Given the description of an element on the screen output the (x, y) to click on. 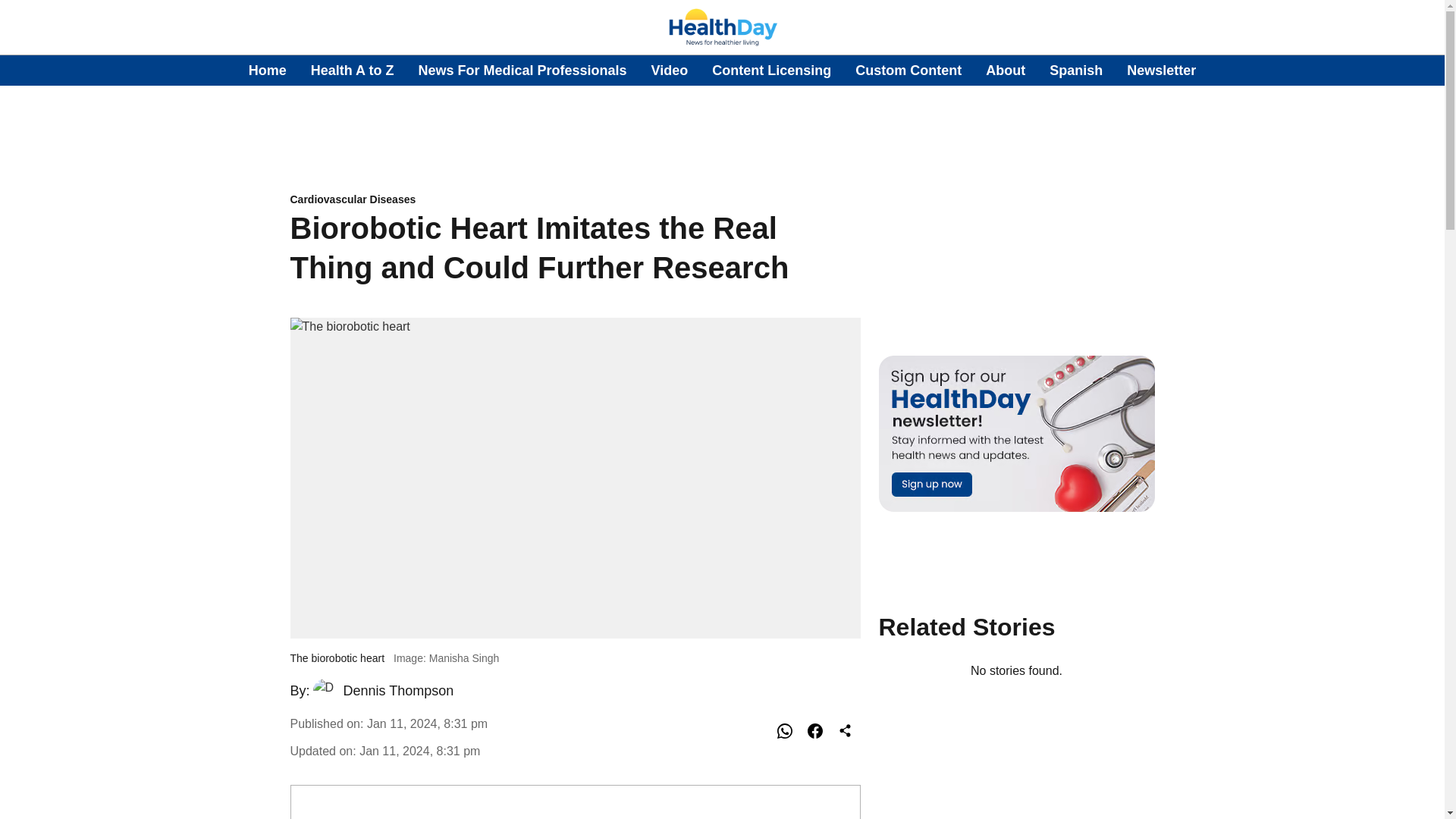
Health A to Z (352, 70)
Home (267, 70)
2024-01-11 12:31 (419, 750)
2024-01-11 12:31 (426, 723)
